Given the description of an element on the screen output the (x, y) to click on. 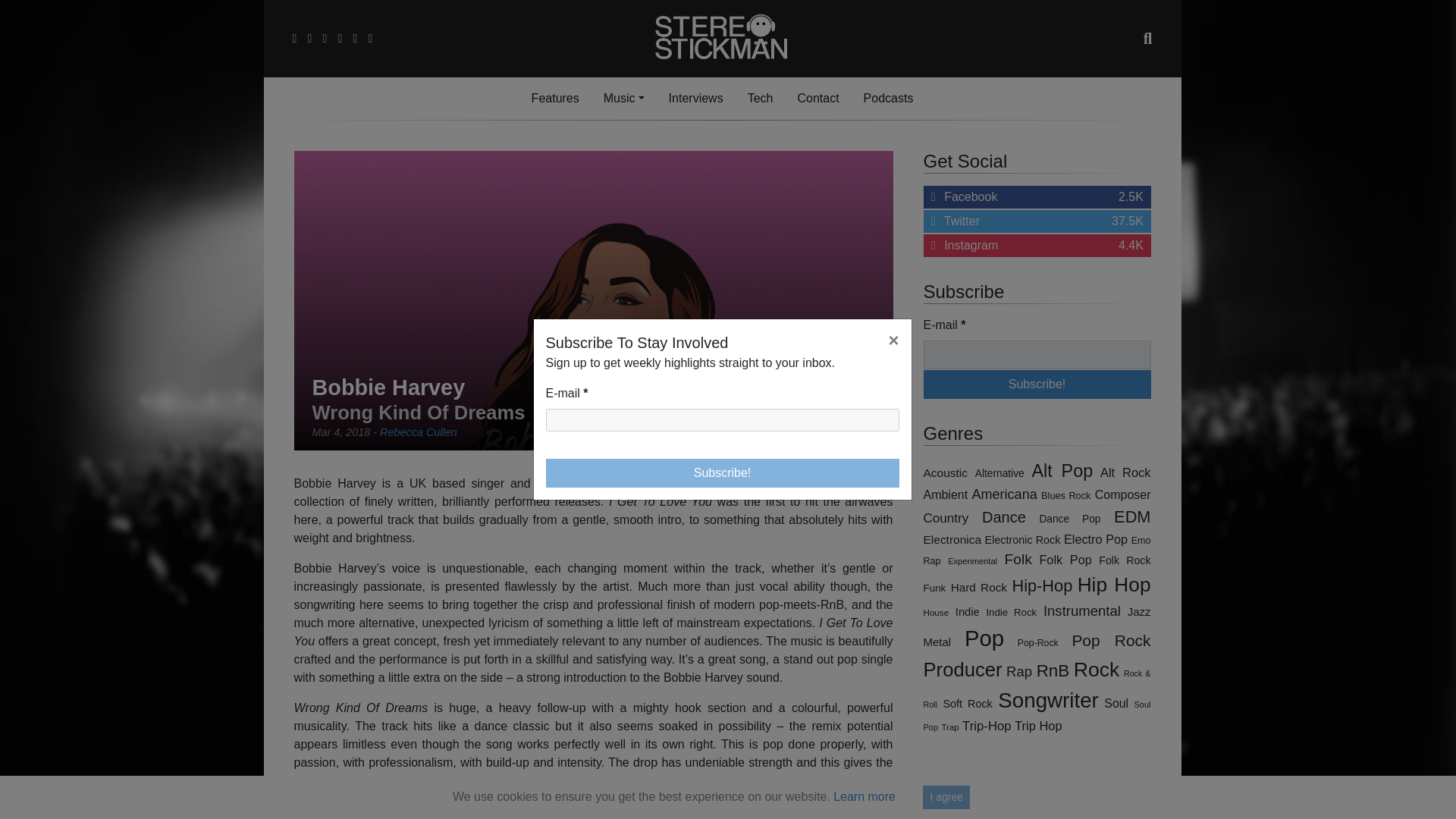
Subscribe! (1037, 196)
E-mail (1037, 384)
Features (722, 419)
Music (555, 98)
Interviews (623, 98)
Subscribe! (1037, 245)
Tech (695, 98)
Music (722, 472)
Subscribe! (760, 98)
Tech (623, 98)
Interviews (1037, 384)
Rebecca Cullen (760, 98)
